Given the description of an element on the screen output the (x, y) to click on. 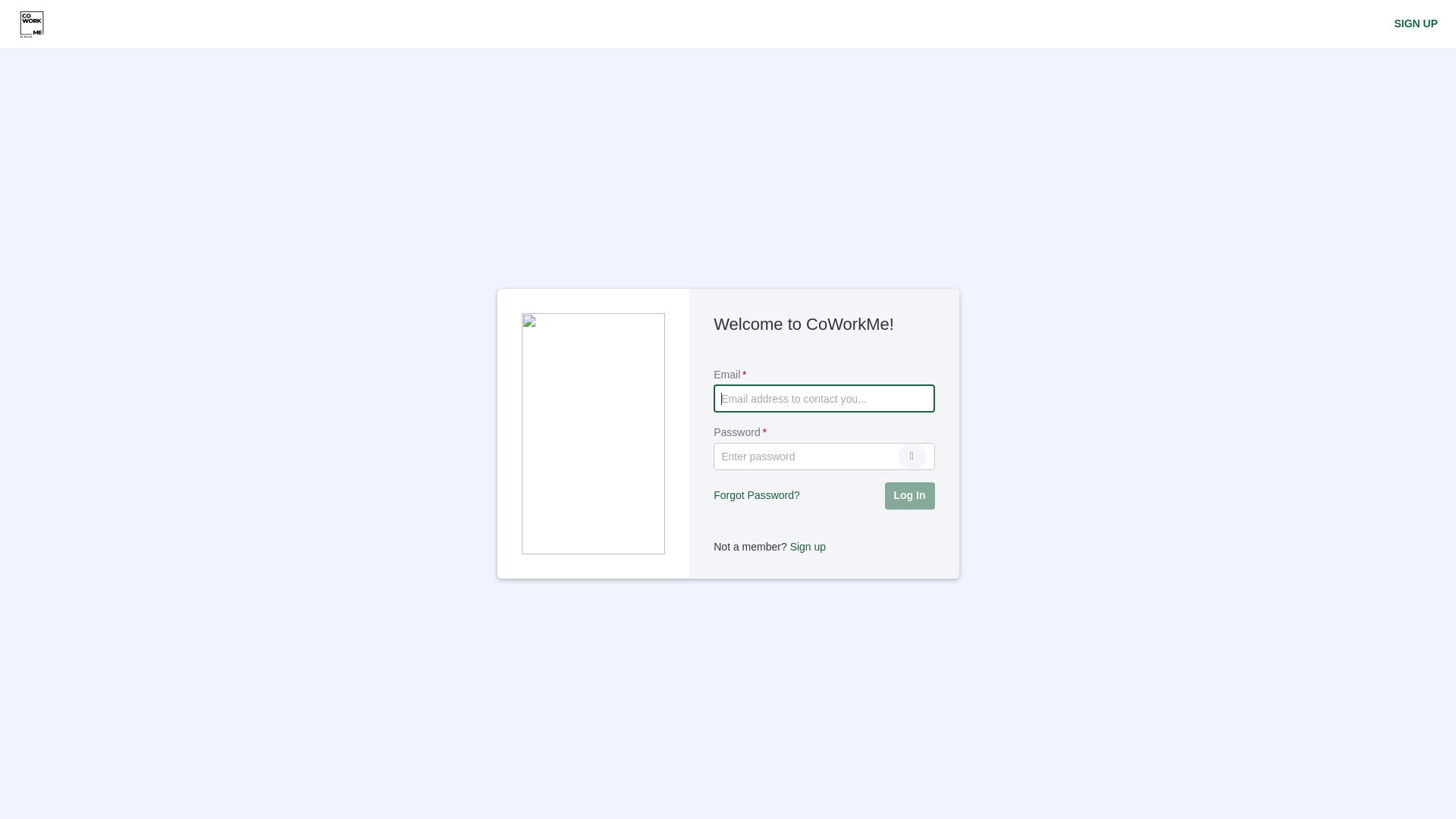
Log In Element type: text (909, 495)
Sign up Element type: text (807, 546)
Forgot Password? Element type: text (756, 495)
SIGN UP Element type: text (1415, 23)
